Given the description of an element on the screen output the (x, y) to click on. 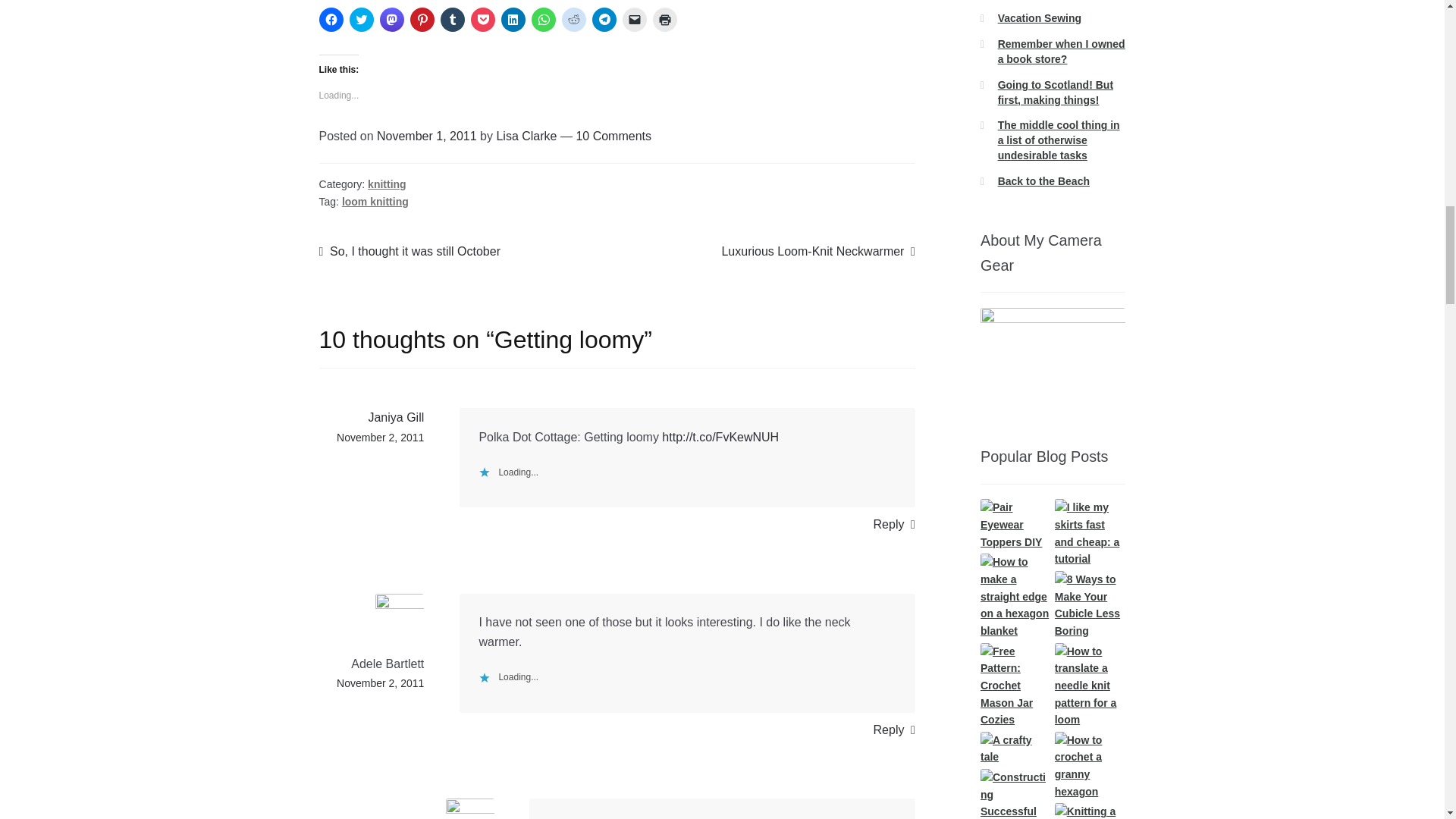
Click to share on Twitter (361, 19)
Click to share on Pinterest (421, 19)
Click to share on Mastodon (392, 19)
Click to share on Facebook (330, 19)
Click to share on LinkedIn (512, 19)
Click to share on Tumblr (452, 19)
Click to share on Pocket (482, 19)
